Given the description of an element on the screen output the (x, y) to click on. 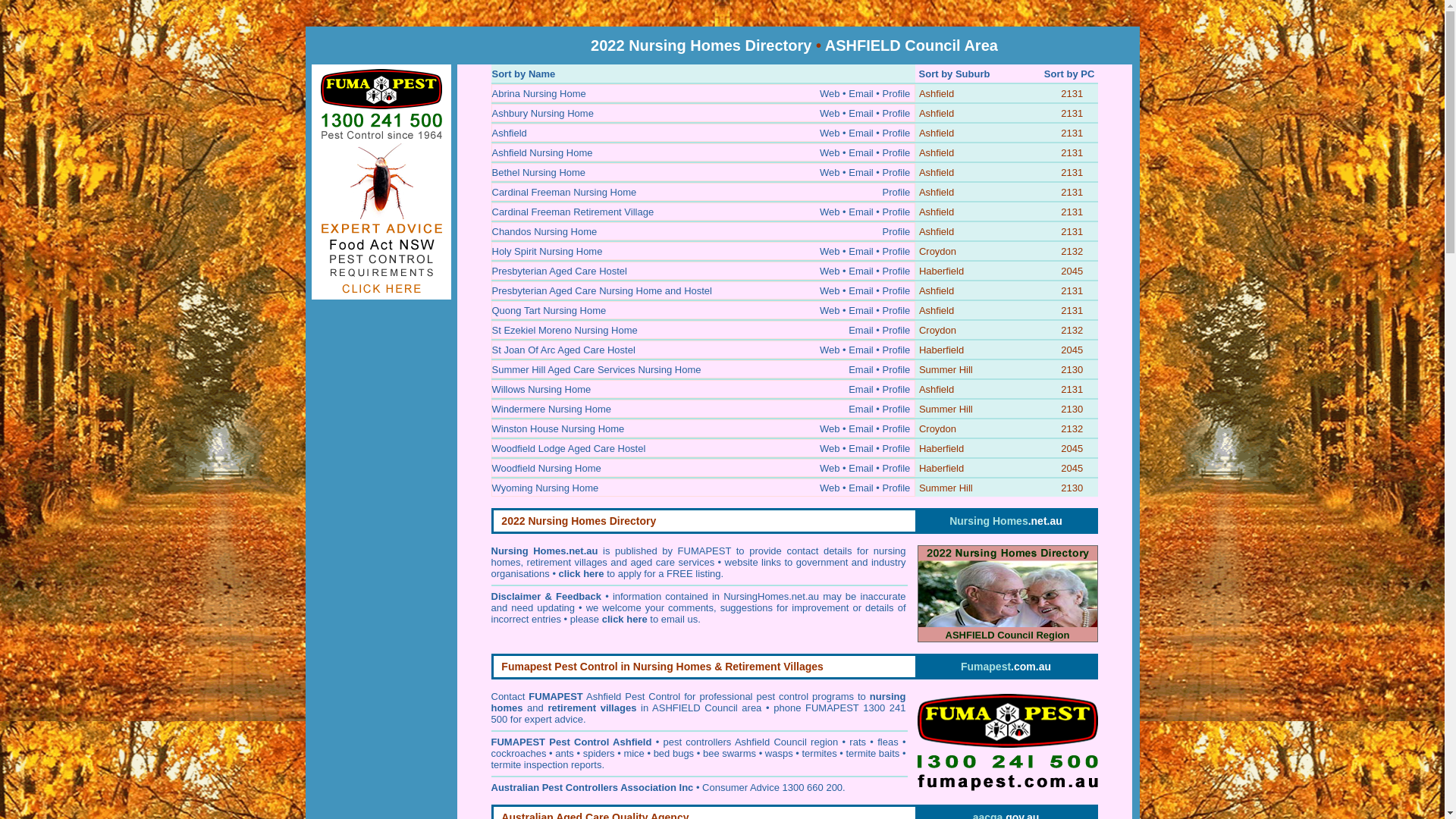
wasps Element type: text (779, 753)
Summer Hill Element type: text (945, 487)
bee swarms Element type: text (729, 753)
ASHFIELD Council Region Element type: text (1007, 593)
Ashfield Element type: text (936, 93)
pest controllers Ashfield Council Element type: text (734, 741)
Ashfield Element type: text (936, 211)
Ashfield Element type: text (936, 152)
Ashfield Pest Control Element type: text (633, 696)
Ashfield Element type: text (936, 132)
Sort by Name Element type: text (523, 73)
Pest Control Ashfield Element type: text (600, 741)
Croydon Element type: text (937, 251)
Croydon Element type: text (937, 428)
Australian Pest Controllers Association Inc Element type: text (592, 787)
Cardinal Freeman Nursing Home
Profile Element type: text (702, 191)
Summer Hill Element type: text (945, 369)
Haberfield Element type: text (941, 270)
fleas Element type: text (887, 741)
FUMAPEST Element type: text (555, 696)
mice Element type: text (633, 753)
Ashfield Element type: text (936, 310)
Ashfield Element type: text (936, 231)
Sort by PC Element type: text (1069, 73)
Ashfield Element type: text (936, 172)
Fumapest.com.au Element type: text (1005, 666)
Ashfield Element type: text (936, 191)
Ashfield Element type: text (936, 113)
termite baits Element type: text (873, 753)
Croydon Element type: text (937, 329)
Summer Hill Element type: text (945, 408)
termites Element type: text (818, 753)
please click here to email us Element type: text (633, 618)
Sort by Suburb Element type: text (954, 73)
click here Element type: text (581, 573)
ants Element type: text (564, 753)
cockroaches Element type: text (518, 753)
Haberfield Element type: text (941, 448)
rats Element type: text (857, 741)
Ashfield Element type: text (936, 389)
Nursing Homes.net.au Element type: text (1005, 520)
Chandos Nursing Home
Profile Element type: text (702, 230)
spiders Element type: text (599, 753)
Ashfield Element type: text (936, 290)
termite inspection reports Element type: text (546, 764)
Haberfield Element type: text (941, 467)
FUMAPEST Element type: text (518, 741)
Haberfield Element type: text (941, 349)
bed bugs Element type: text (673, 753)
